Given the description of an element on the screen output the (x, y) to click on. 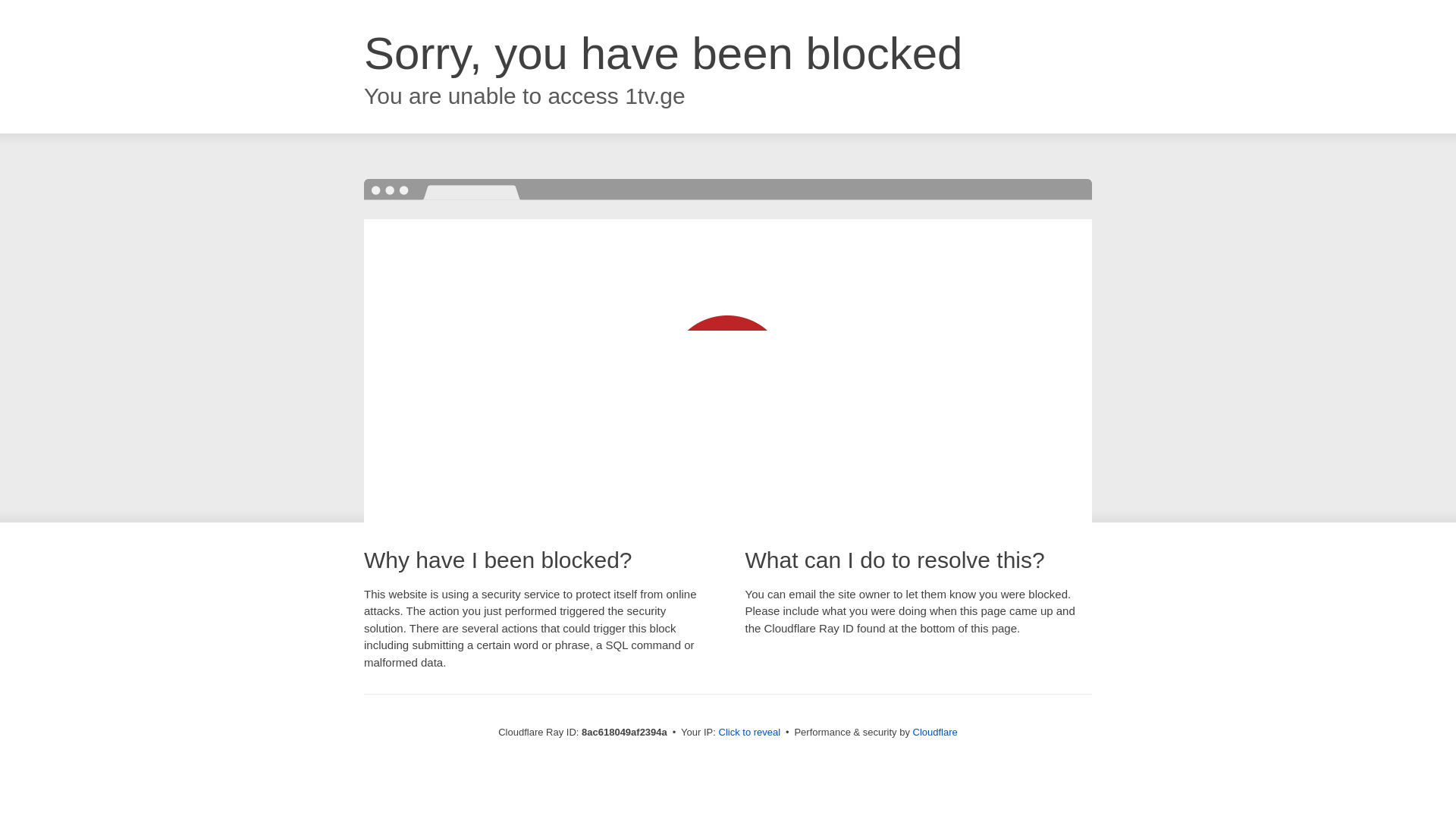
Click to reveal (749, 732)
Cloudflare (935, 731)
